Given the description of an element on the screen output the (x, y) to click on. 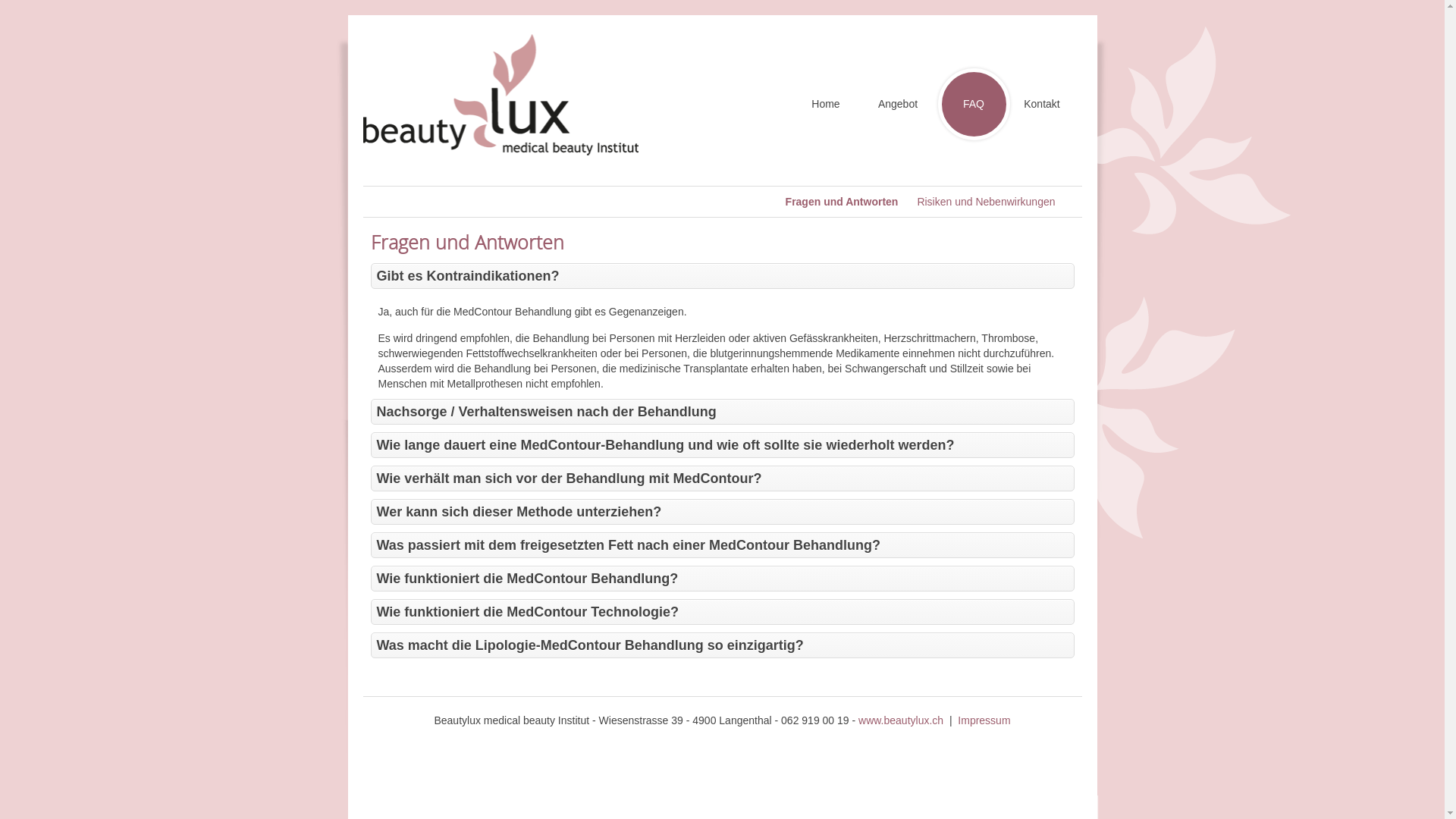
Angebot Element type: text (902, 104)
FAQ Element type: text (973, 104)
Fragen und Antworten Element type: text (841, 201)
Beauty & Kosmetik Langenthal Element type: hover (499, 94)
Kontakt Element type: text (1046, 104)
www.beautylux.ch Element type: text (900, 720)
Fettweg durch Ultraschall Cavitation Element type: hover (1180, 282)
Home Element type: text (829, 104)
Risiken und Nebenwirkungen Element type: text (985, 201)
Impressum Element type: text (983, 720)
